Given the description of an element on the screen output the (x, y) to click on. 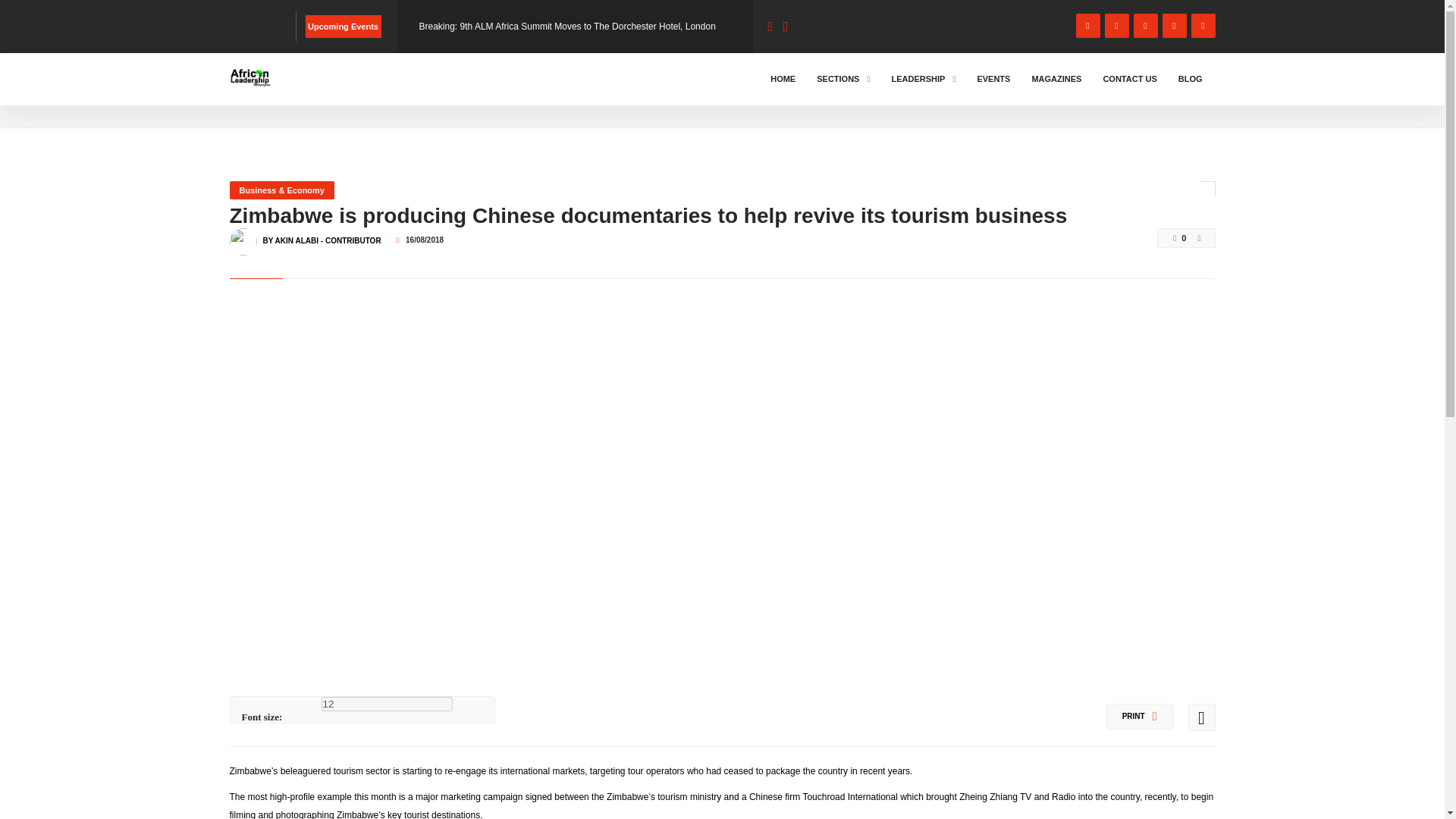
Scroll Down To Discover (1154, 88)
BLOG (293, 92)
CONTACT US (1129, 79)
HOME (782, 79)
LEADERSHIP (922, 79)
EVENTS (992, 79)
MAGAZINES (1056, 79)
BLOG (1190, 79)
12 (386, 703)
